Given the description of an element on the screen output the (x, y) to click on. 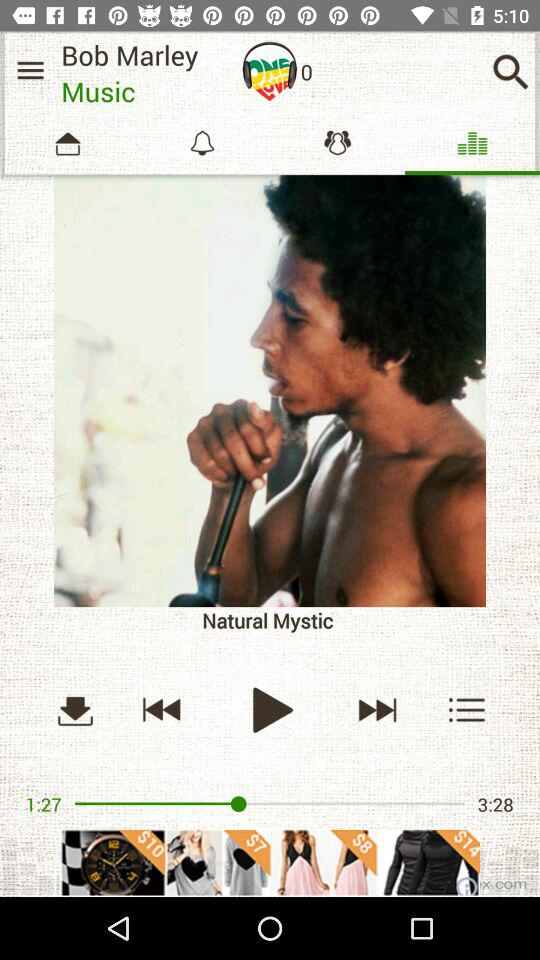
search button (510, 71)
